Given the description of an element on the screen output the (x, y) to click on. 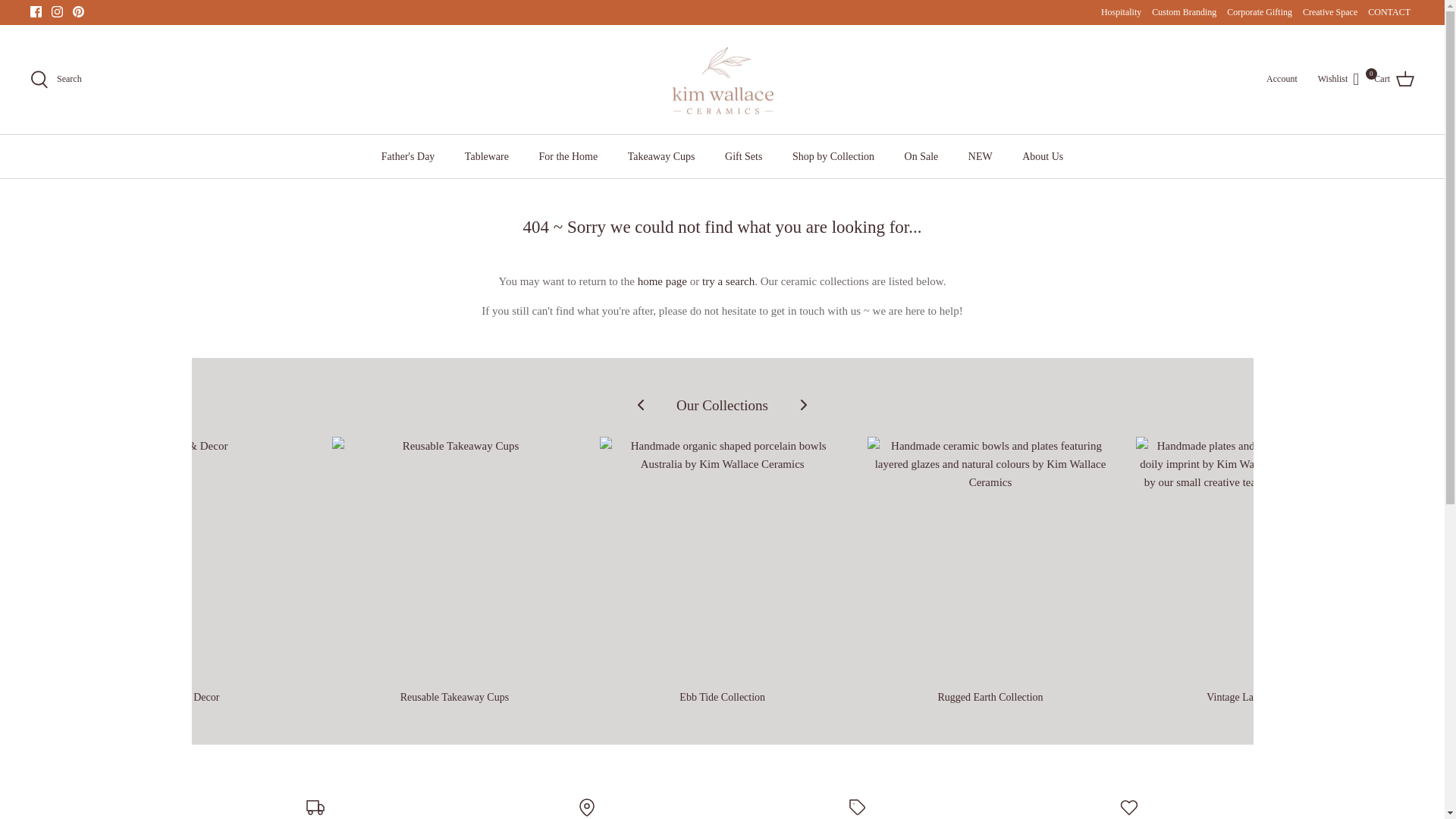
Pinterest (78, 11)
Account (1284, 79)
CONTACT (1389, 12)
Custom Branding (1338, 79)
Facebook (1183, 12)
Father's Day (36, 11)
Pinterest (408, 156)
Hospitality (78, 11)
Cart (1120, 12)
